Given the description of an element on the screen output the (x, y) to click on. 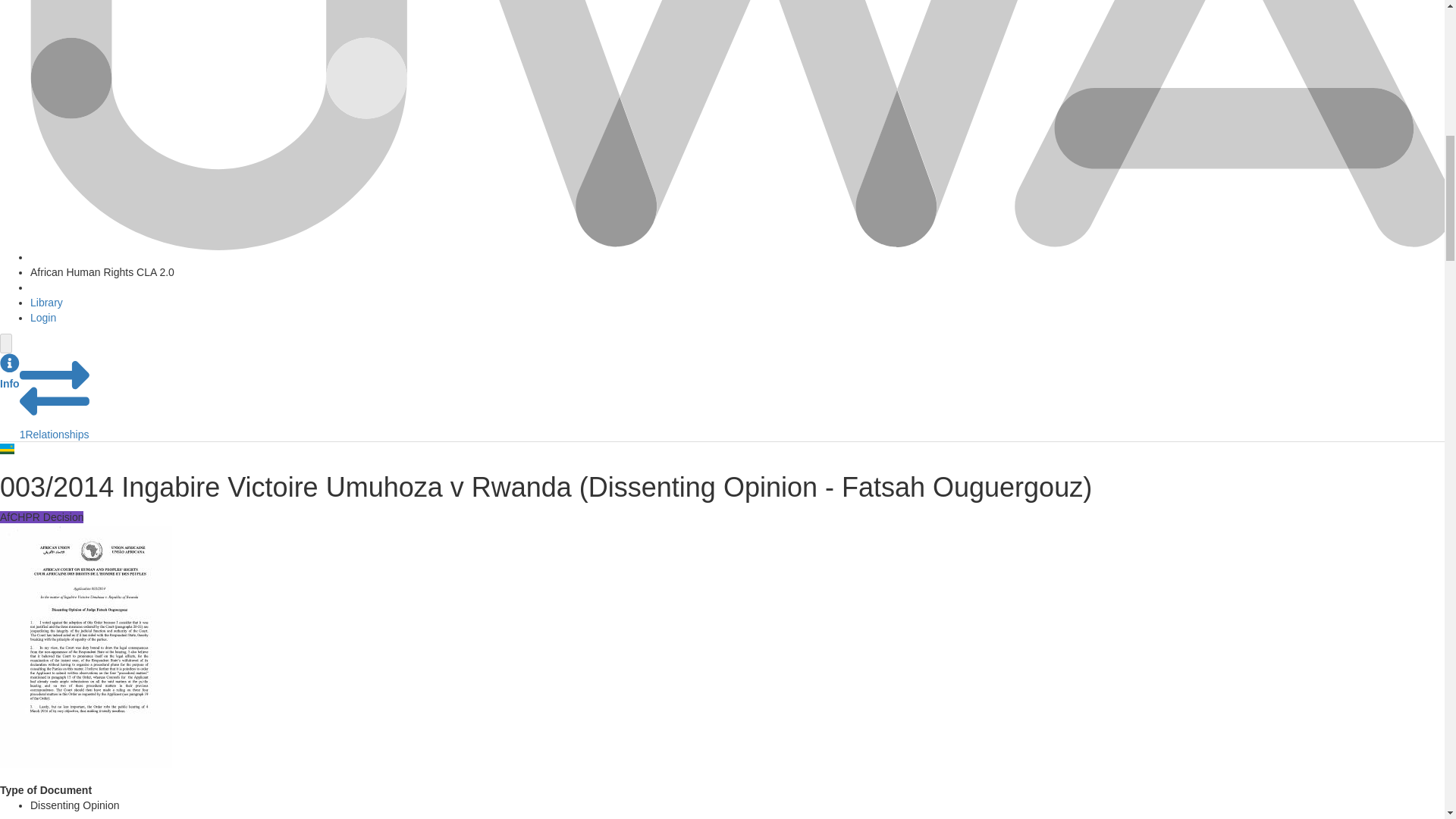
1Relationships (54, 426)
Library (46, 302)
Login (43, 317)
